Given the description of an element on the screen output the (x, y) to click on. 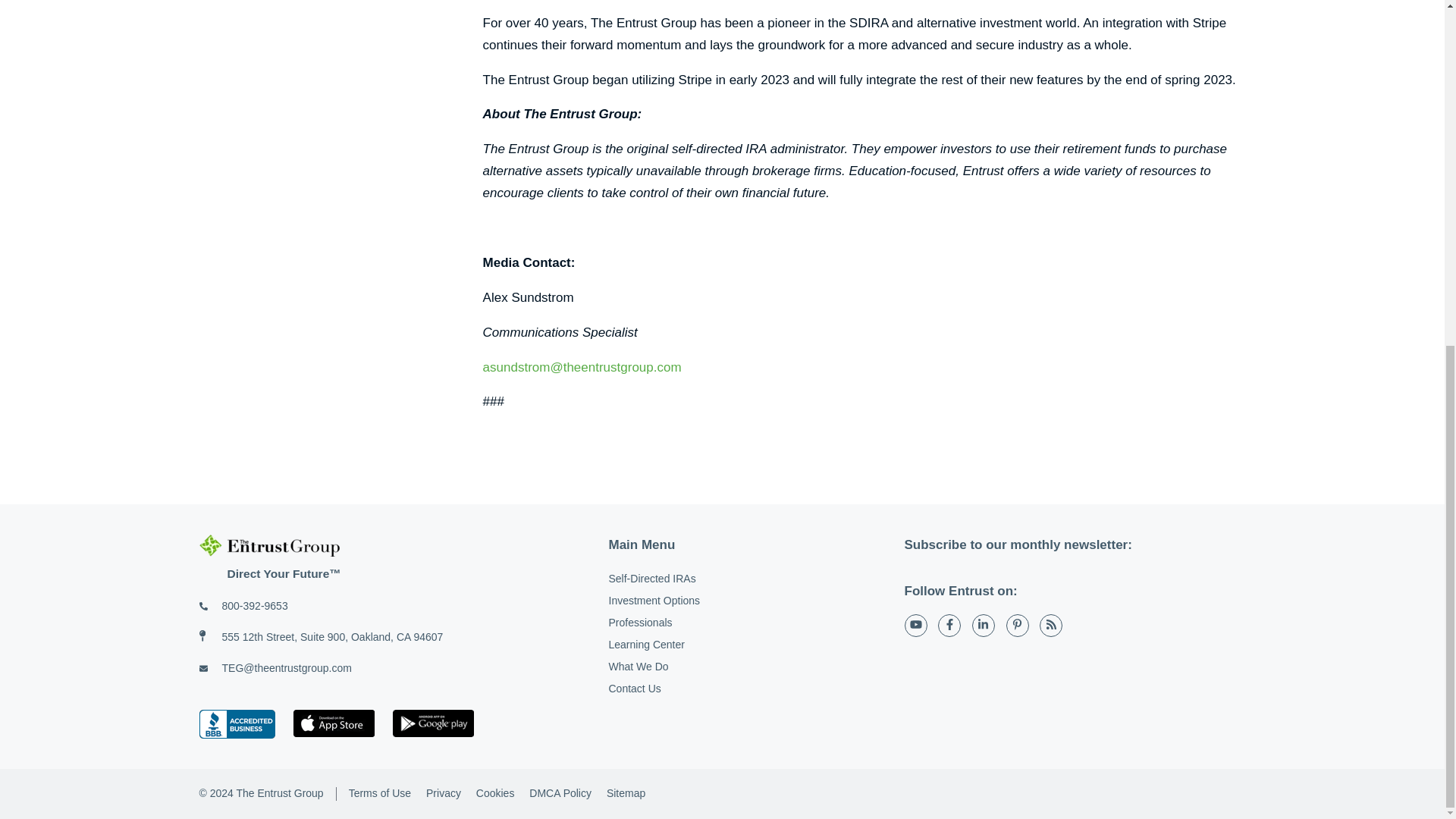
Follow us on Linkedin (983, 625)
Follow us on Facebook (948, 625)
Follow us on RSS (1050, 625)
Follow us on YouTube (915, 625)
Follow us on Pinterest (1017, 625)
